Given the description of an element on the screen output the (x, y) to click on. 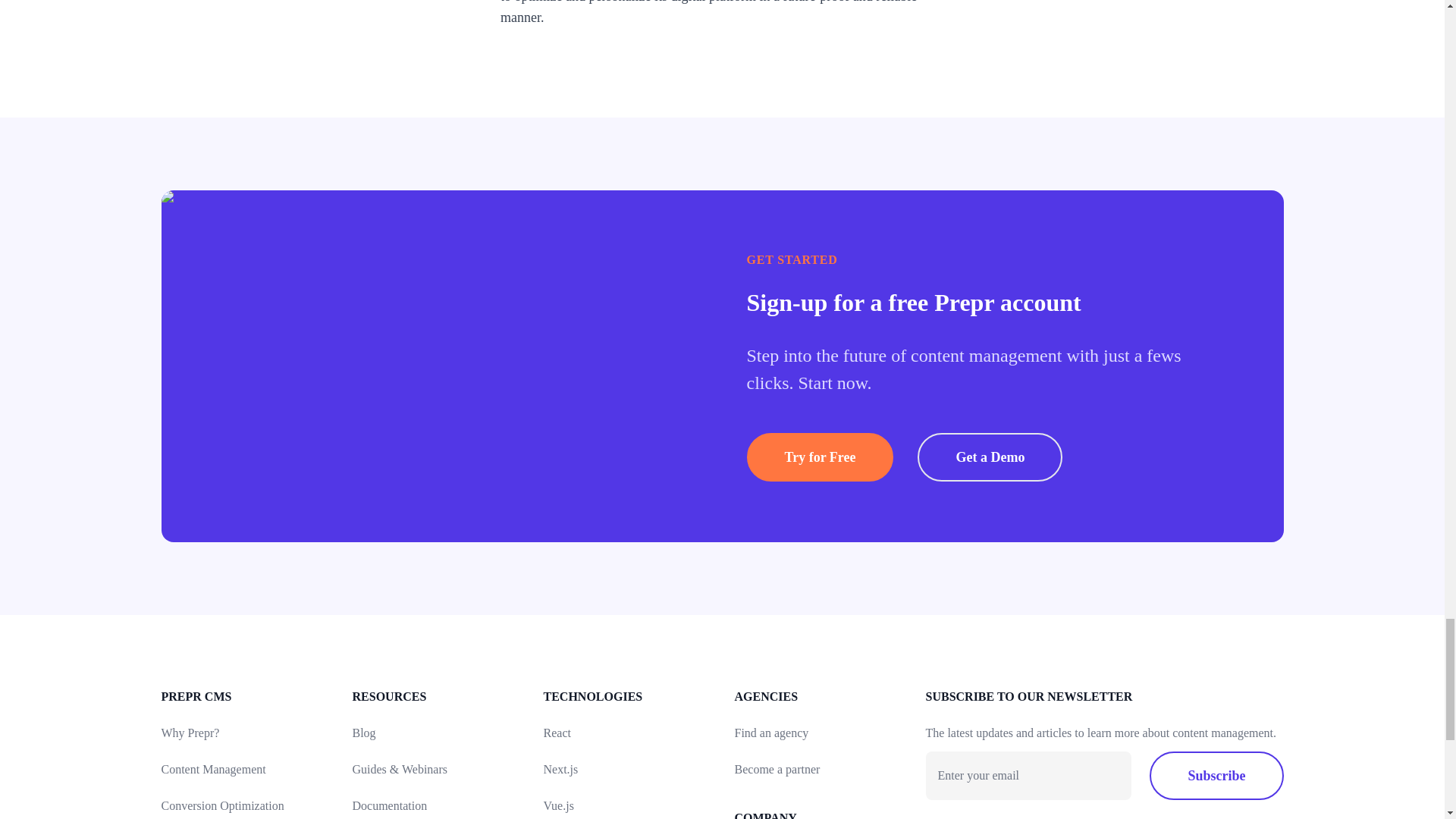
Get a Demo (989, 457)
Blog (363, 732)
Vue.js (558, 805)
Why Prepr? (189, 732)
Try for Free (819, 457)
Next.js (560, 768)
Content Management (212, 768)
Documentation (389, 805)
Conversion Optimization (221, 805)
React (556, 732)
